Given the description of an element on the screen output the (x, y) to click on. 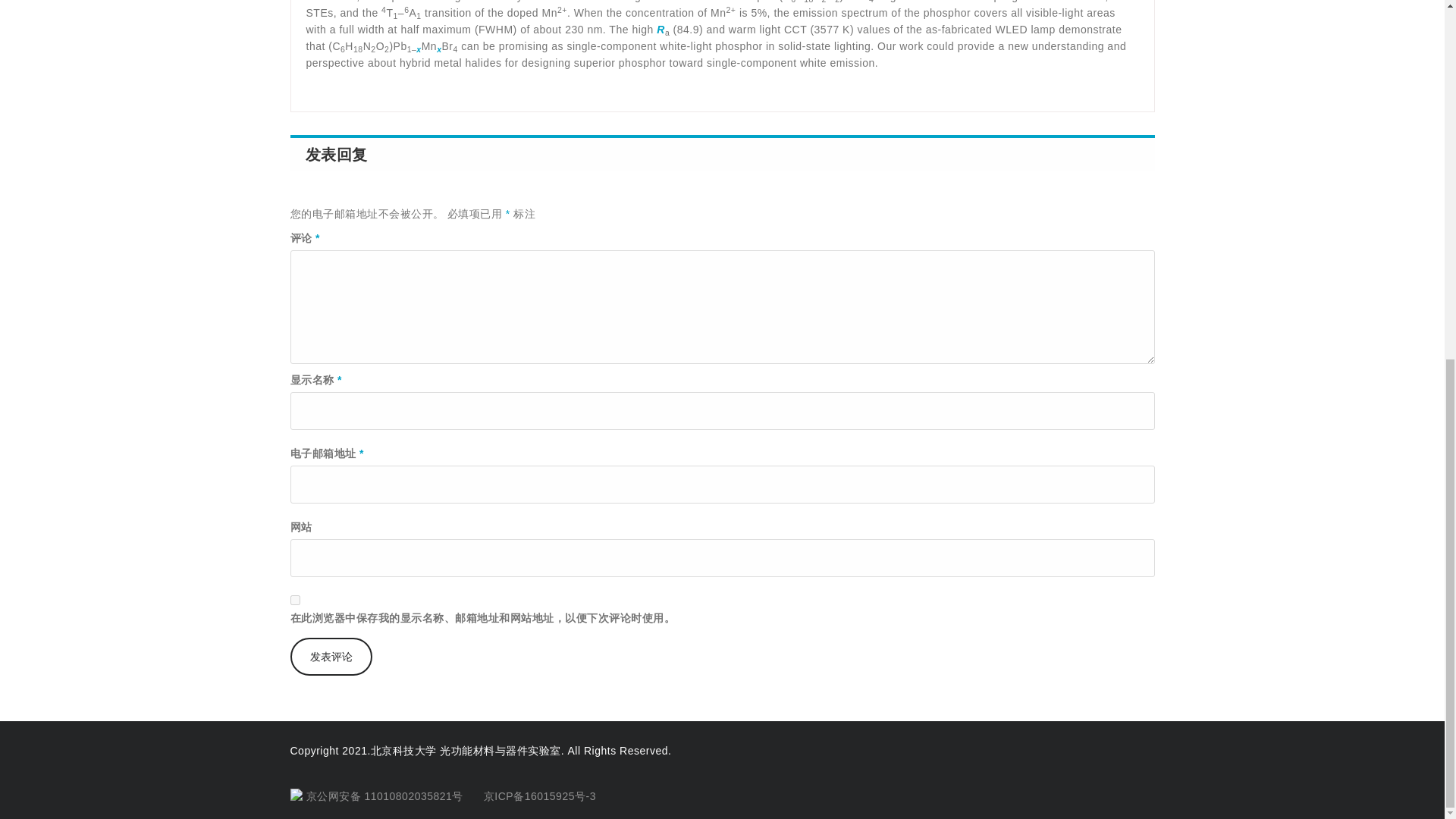
yes (294, 600)
